Given the description of an element on the screen output the (x, y) to click on. 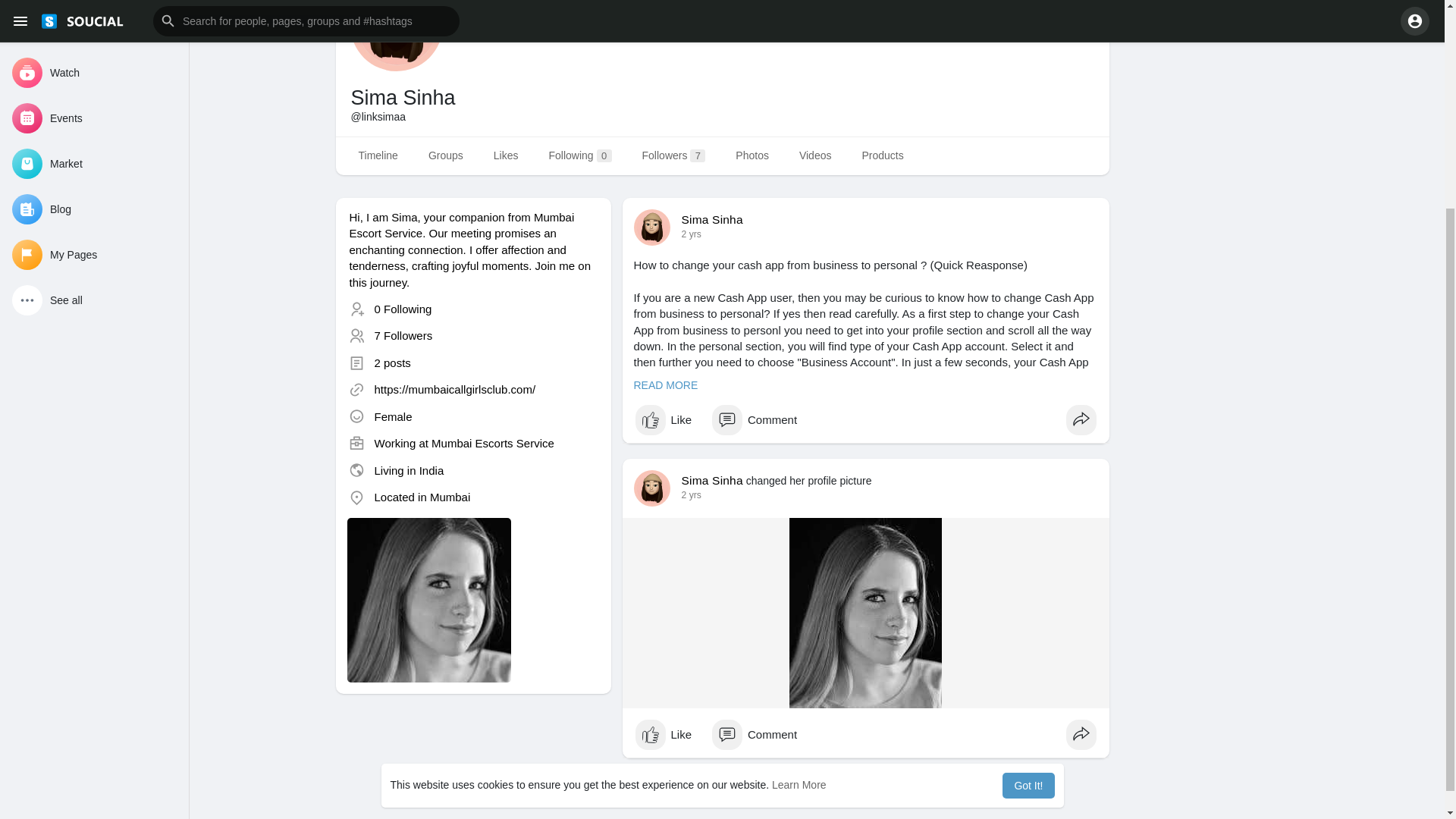
2 yrs (690, 234)
2 yrs (690, 494)
Learn More (799, 506)
Got It! (1028, 507)
